Given the description of an element on the screen output the (x, y) to click on. 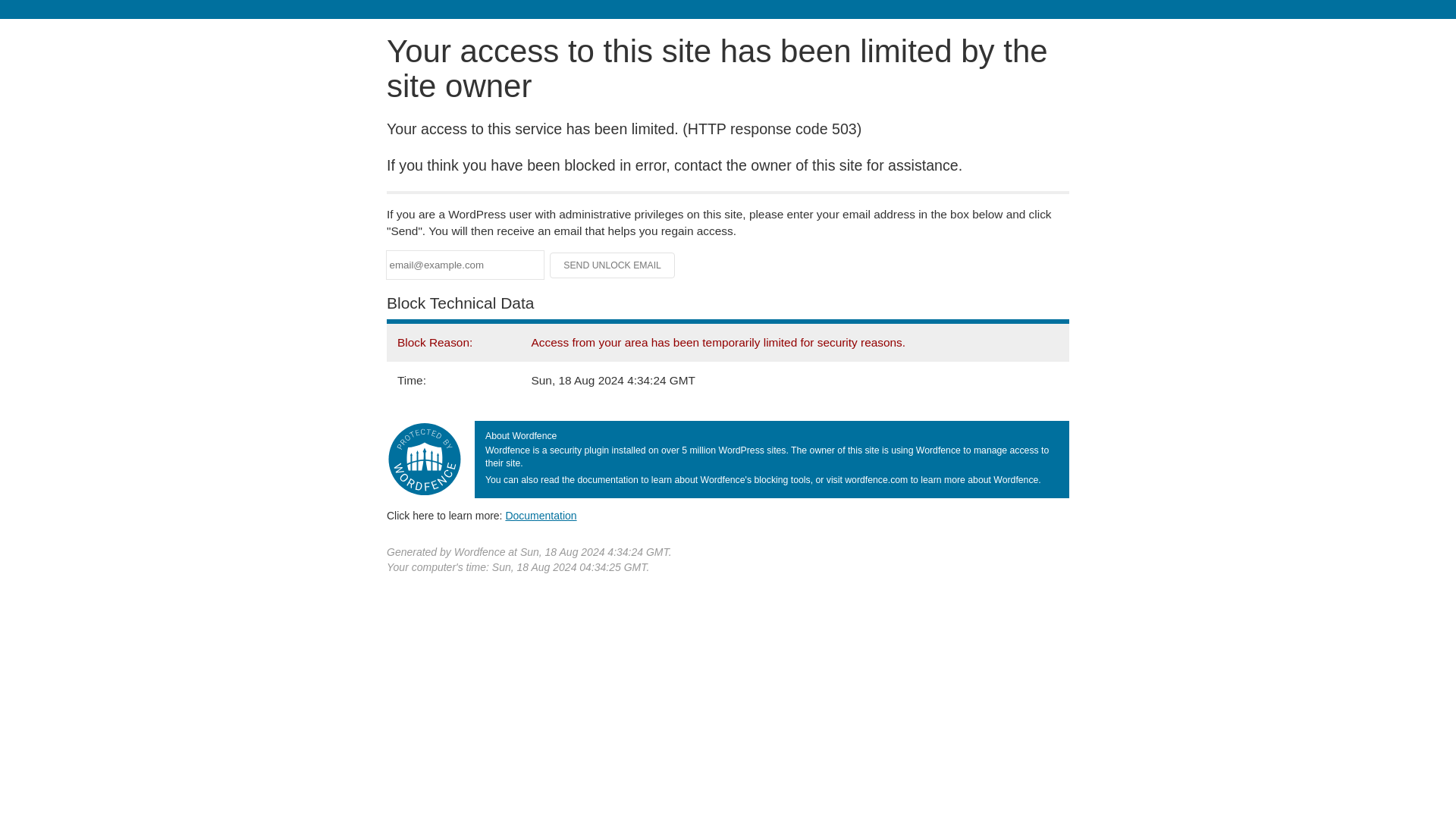
Send Unlock Email (612, 265)
Send Unlock Email (612, 265)
Documentation (540, 515)
